Given the description of an element on the screen output the (x, y) to click on. 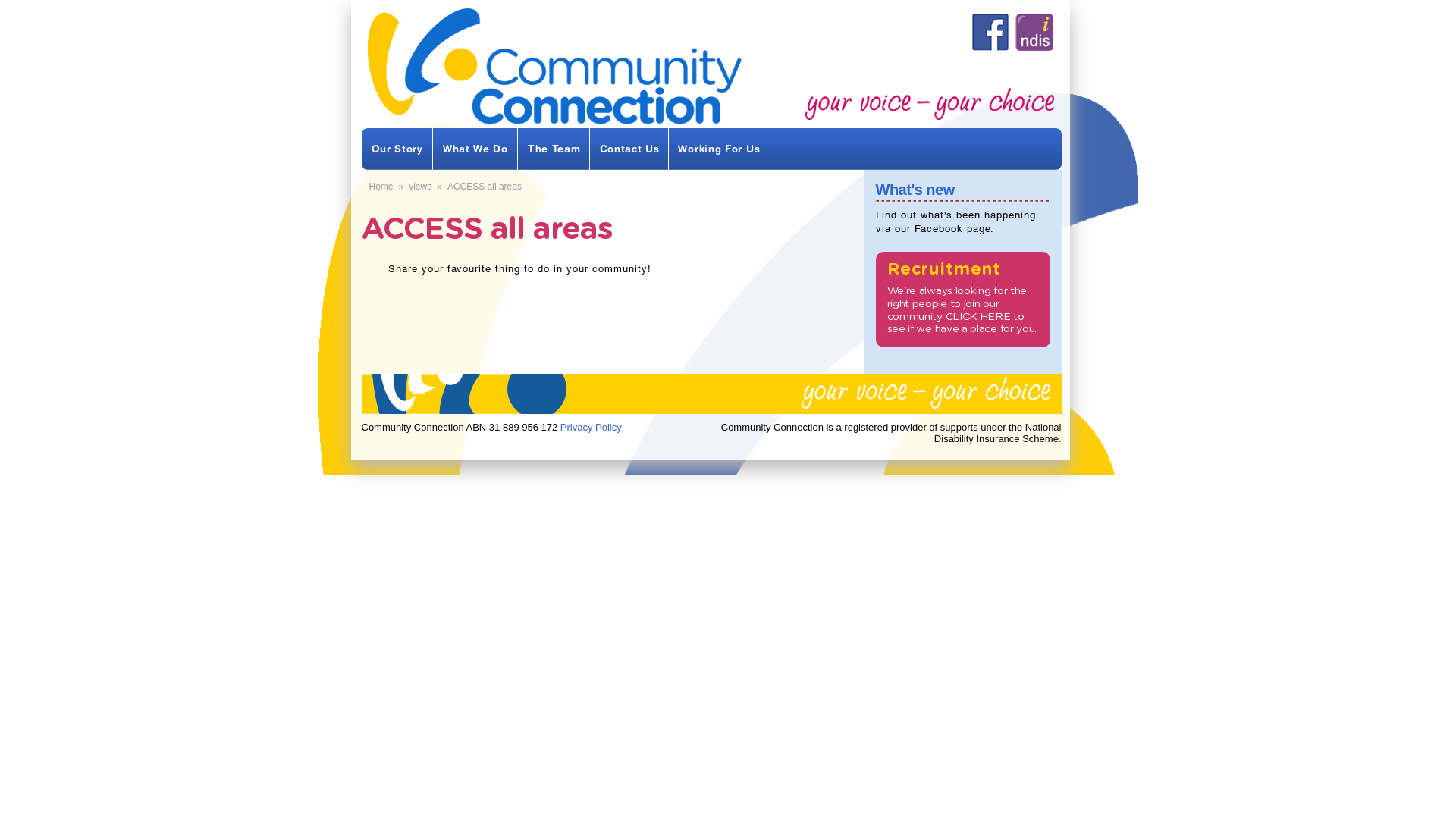
views Element type: text (419, 186)
Working For Us Element type: text (718, 145)
The Team Element type: text (553, 145)
Our Story Element type: text (397, 145)
What We Do Element type: text (475, 145)
Privacy Policy Element type: text (590, 427)
Contact Us Element type: text (629, 145)
Home Element type: text (380, 186)
